Given the description of an element on the screen output the (x, y) to click on. 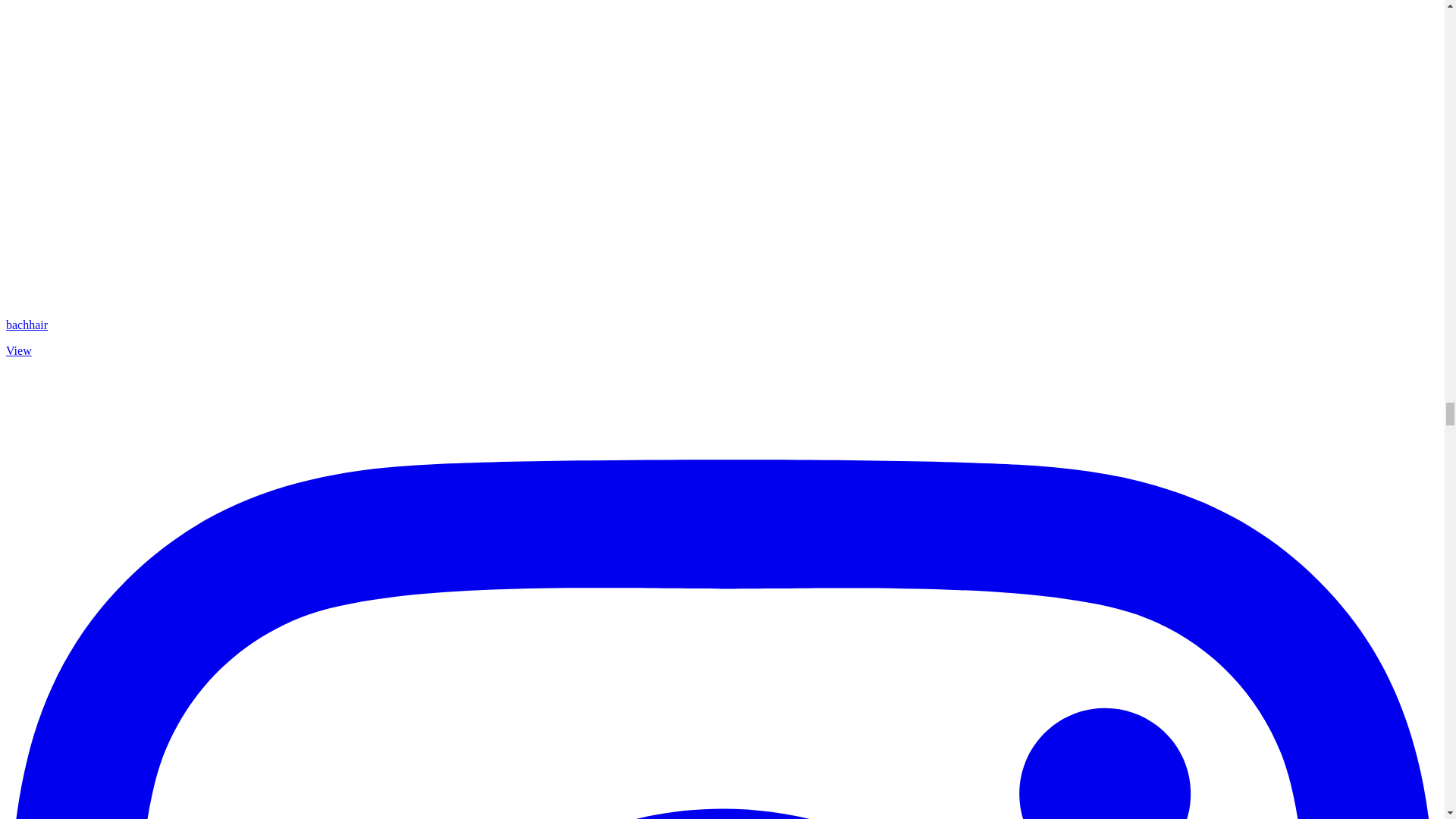
bachhair (26, 324)
